Given the description of an element on the screen output the (x, y) to click on. 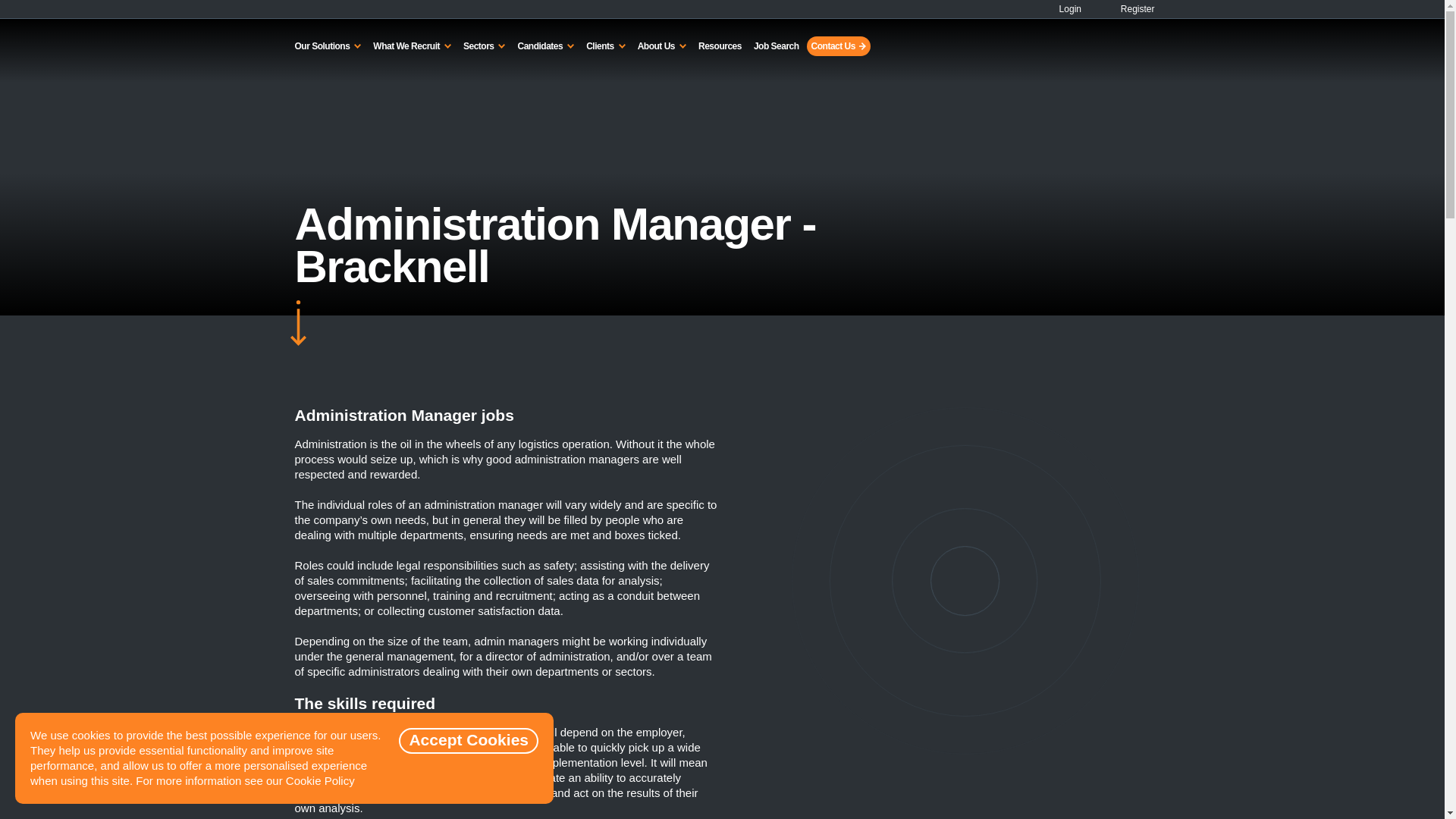
Sectors (484, 46)
Login (1063, 9)
Our Solutions (327, 46)
Register (1128, 9)
What We Recruit (411, 46)
